Given the description of an element on the screen output the (x, y) to click on. 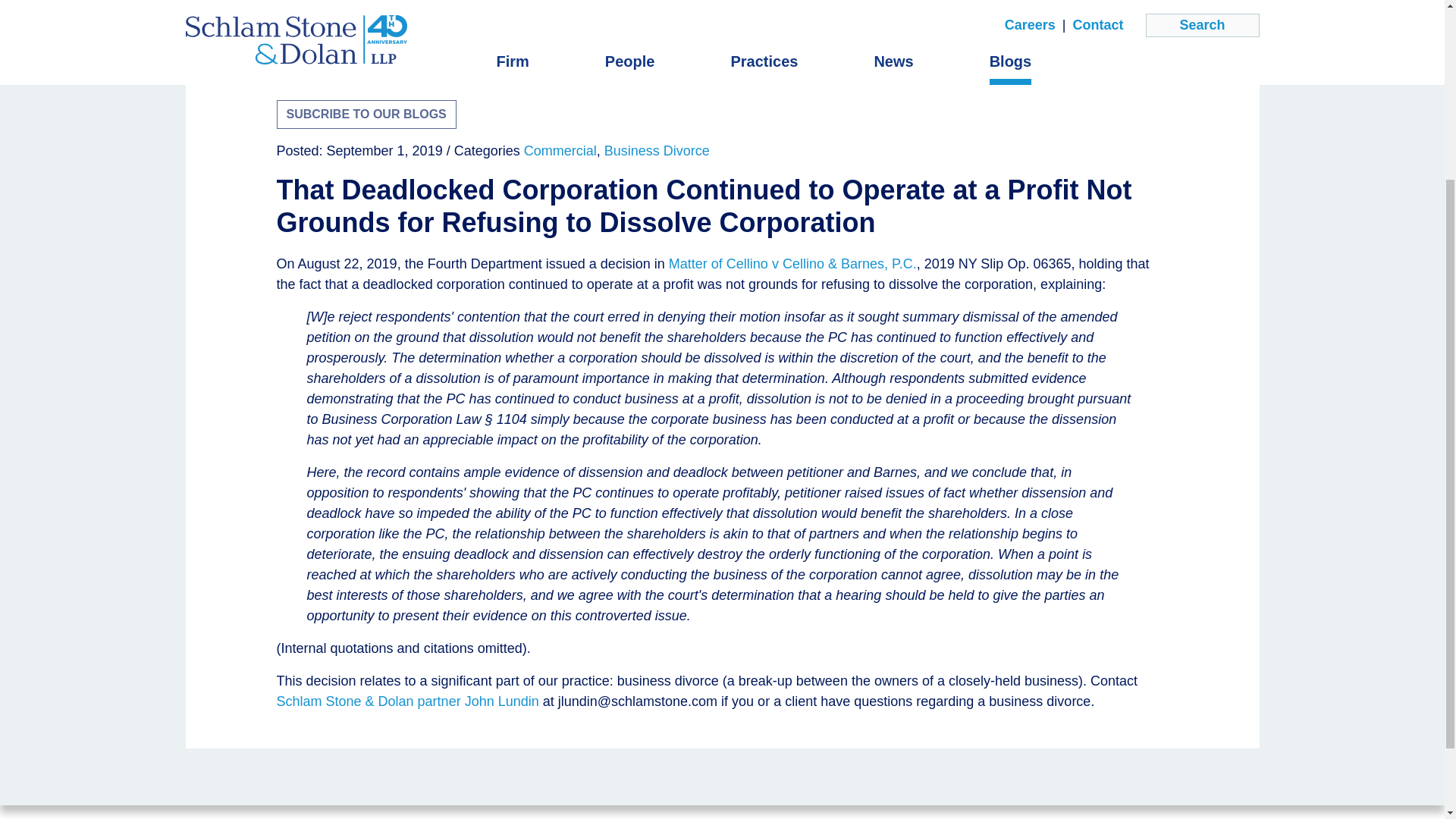
Business Divorce (657, 150)
Commercial (560, 150)
SUBCRIBE TO OUR BLOGS (365, 113)
